Given the description of an element on the screen output the (x, y) to click on. 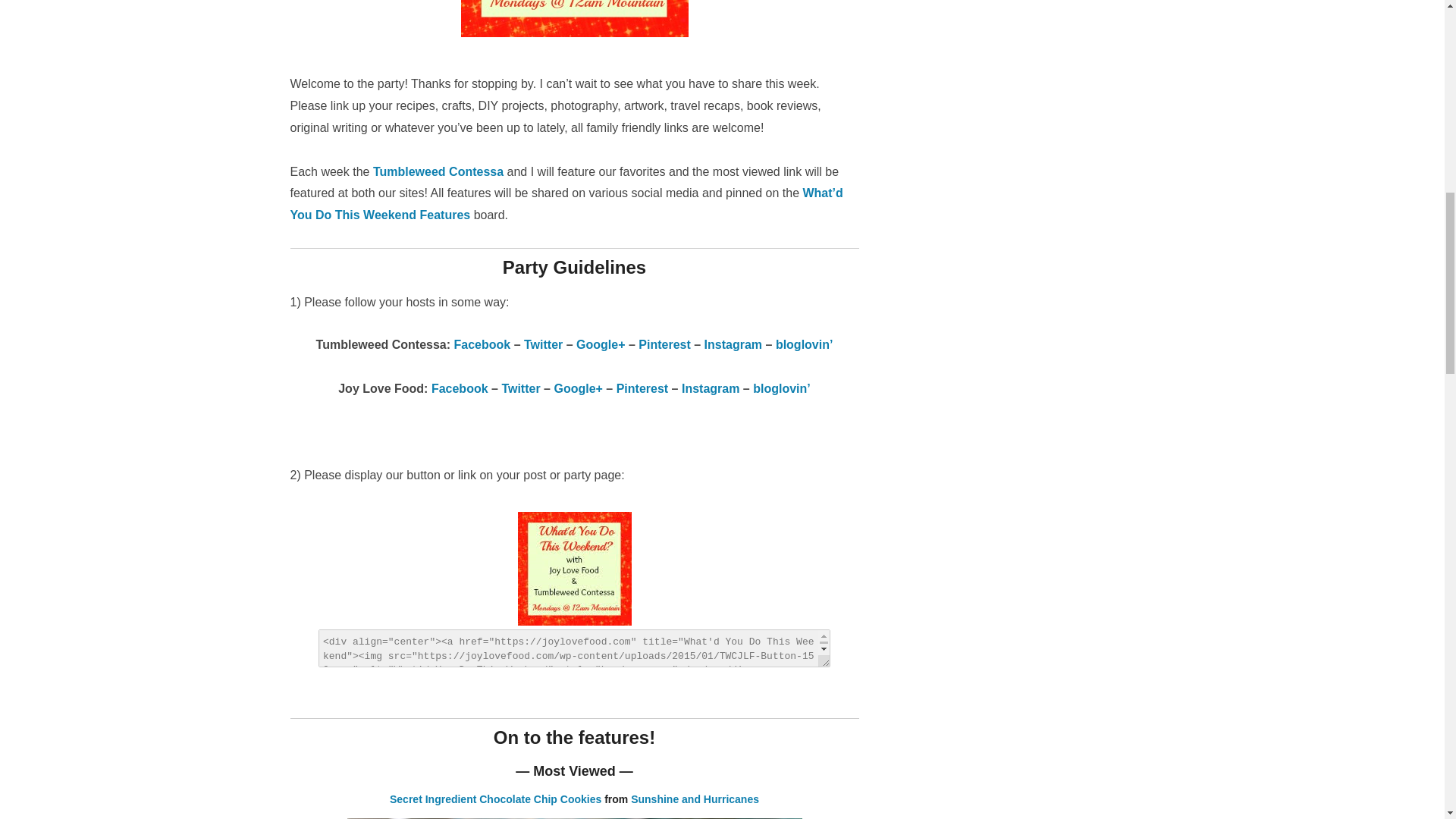
Facebook (482, 344)
Instagram (710, 388)
Twitter (520, 388)
What'd You Do This Weekend (573, 568)
Twitter (543, 344)
Instagram (732, 344)
Pinterest (641, 388)
Facebook (458, 388)
Pinterest (664, 344)
Tumbleweed Contessa (437, 171)
